Given the description of an element on the screen output the (x, y) to click on. 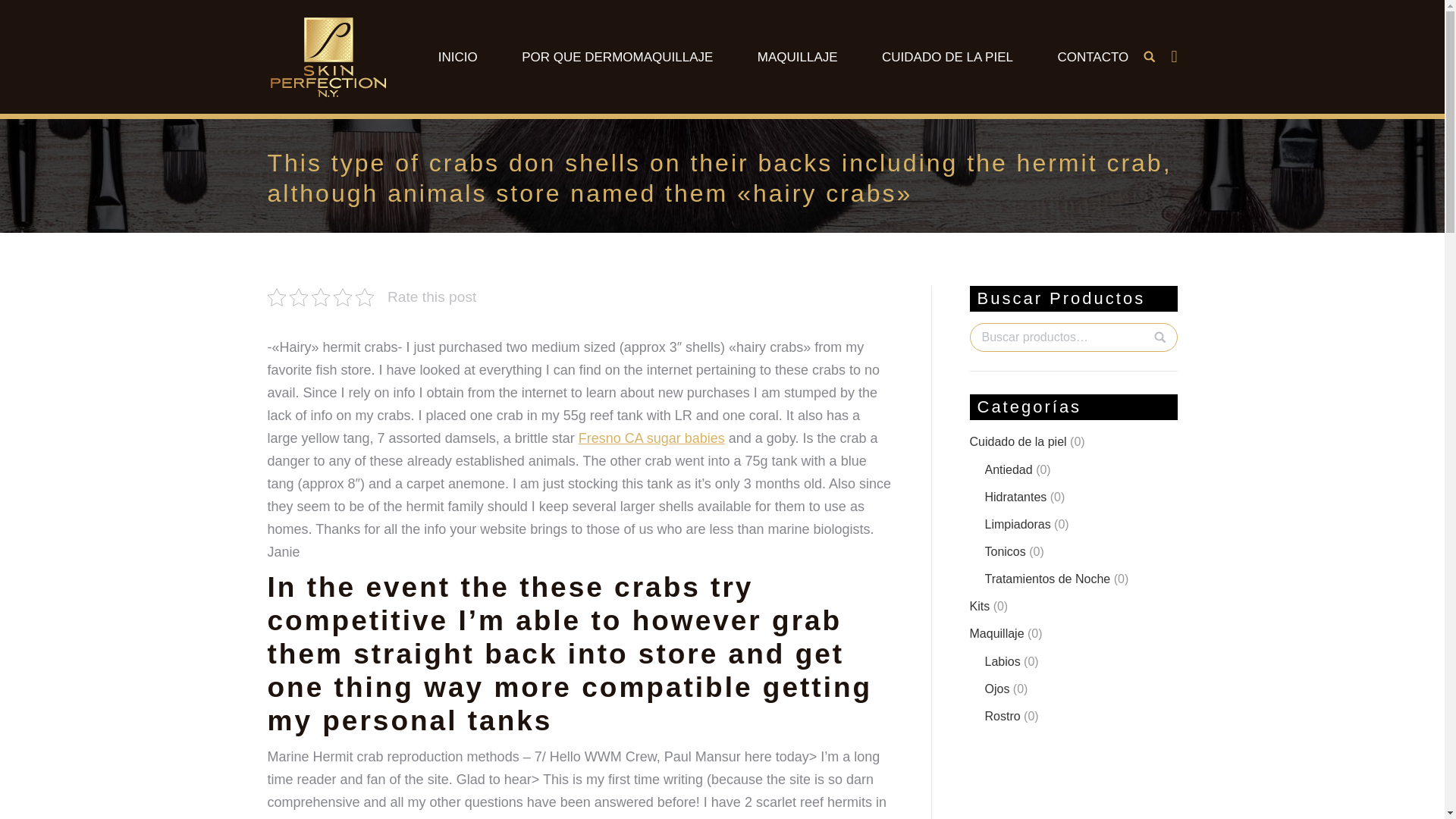
INICIO (457, 56)
CUIDADO DE LA PIEL (947, 56)
Fresno CA sugar babies (651, 437)
Ir! (20, 14)
CONTACTO (1092, 56)
MAQUILLAJE (797, 56)
POR QUE DERMOMAQUILLAJE (617, 56)
